Given the description of an element on the screen output the (x, y) to click on. 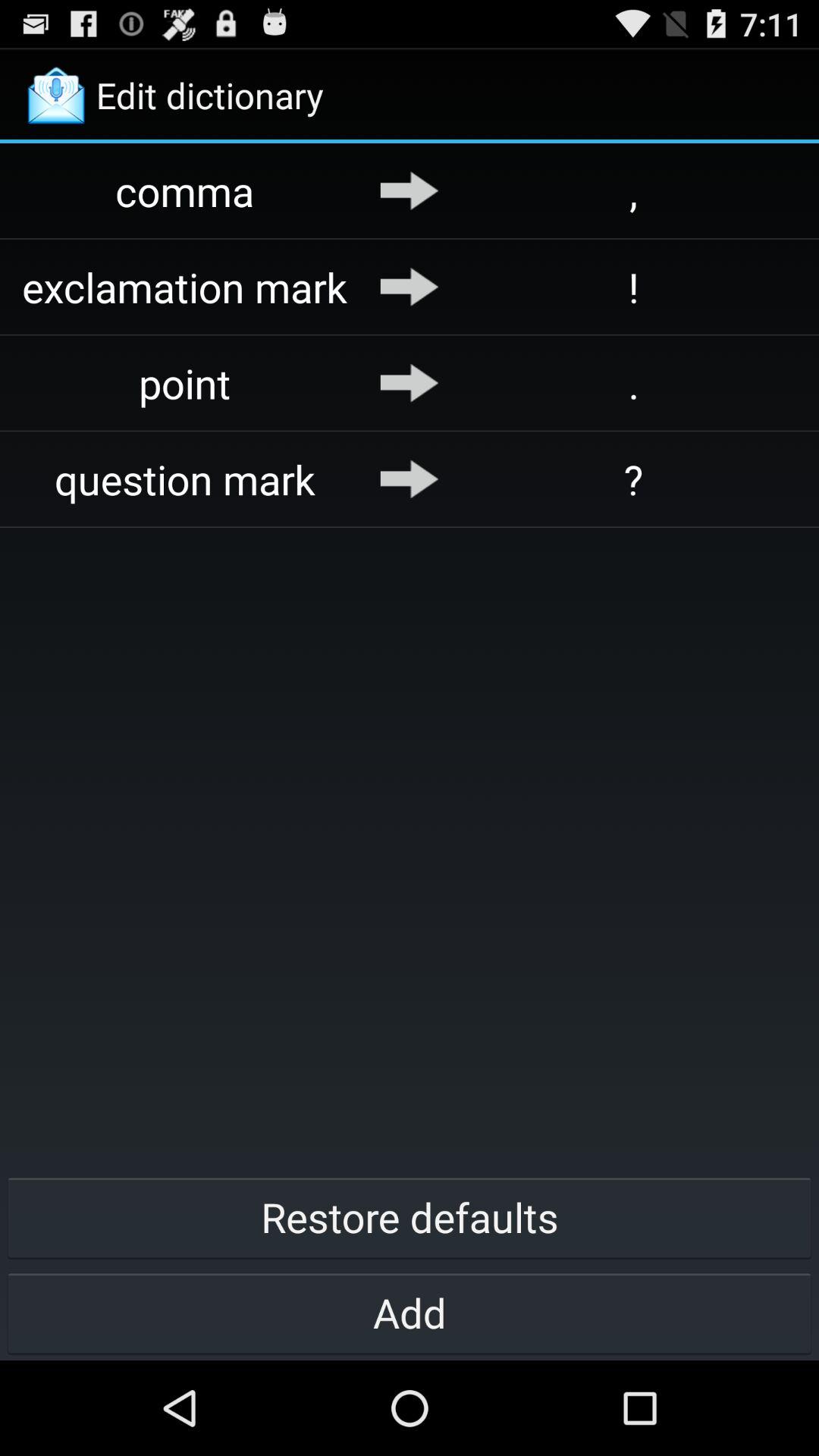
launch ? app (633, 478)
